Given the description of an element on the screen output the (x, y) to click on. 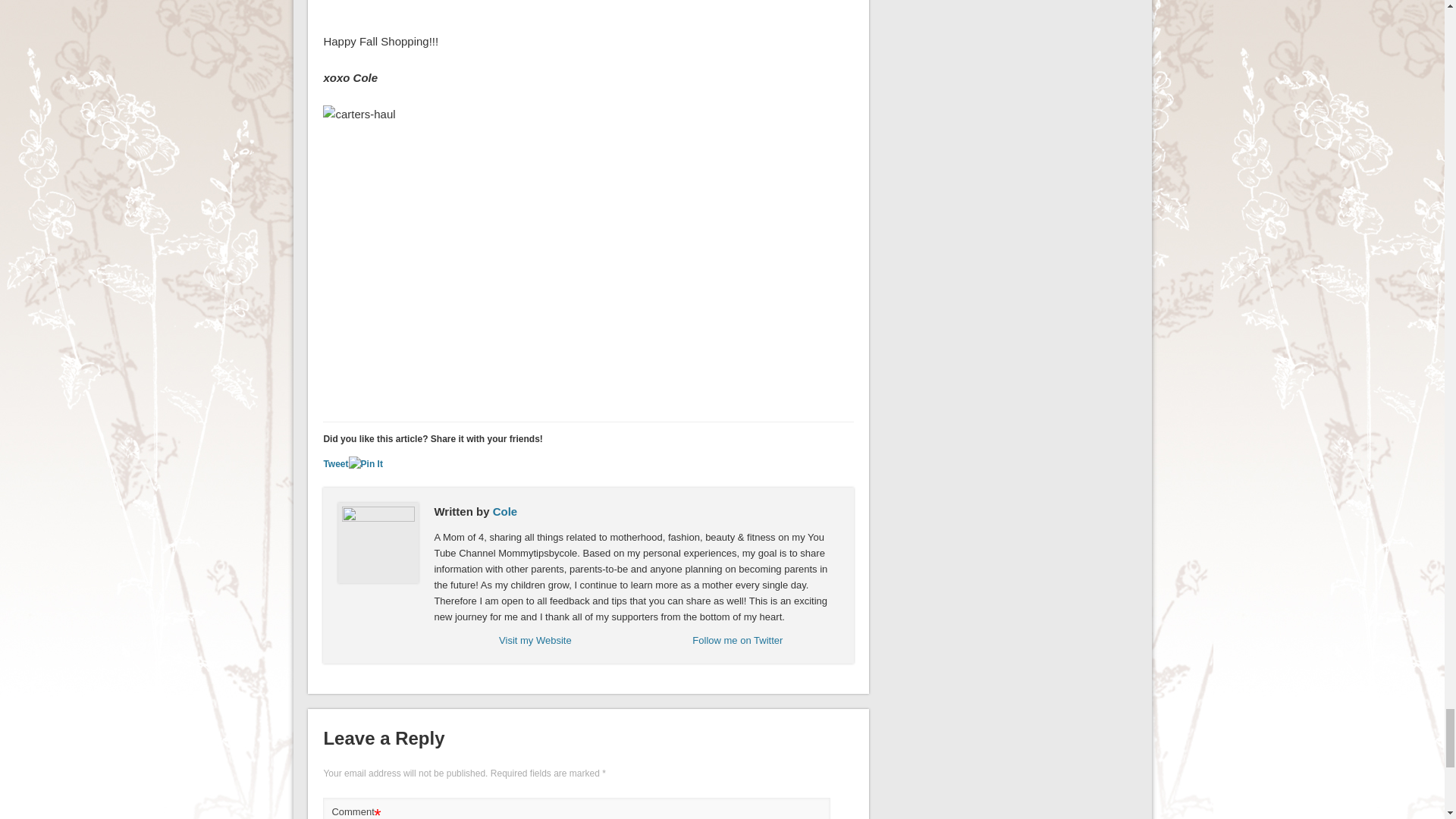
Tweet (335, 463)
Posts by Cole (505, 511)
Pin It (365, 464)
Follow me on Twitter (738, 640)
Cole (505, 511)
Visit my Website (535, 640)
